Given the description of an element on the screen output the (x, y) to click on. 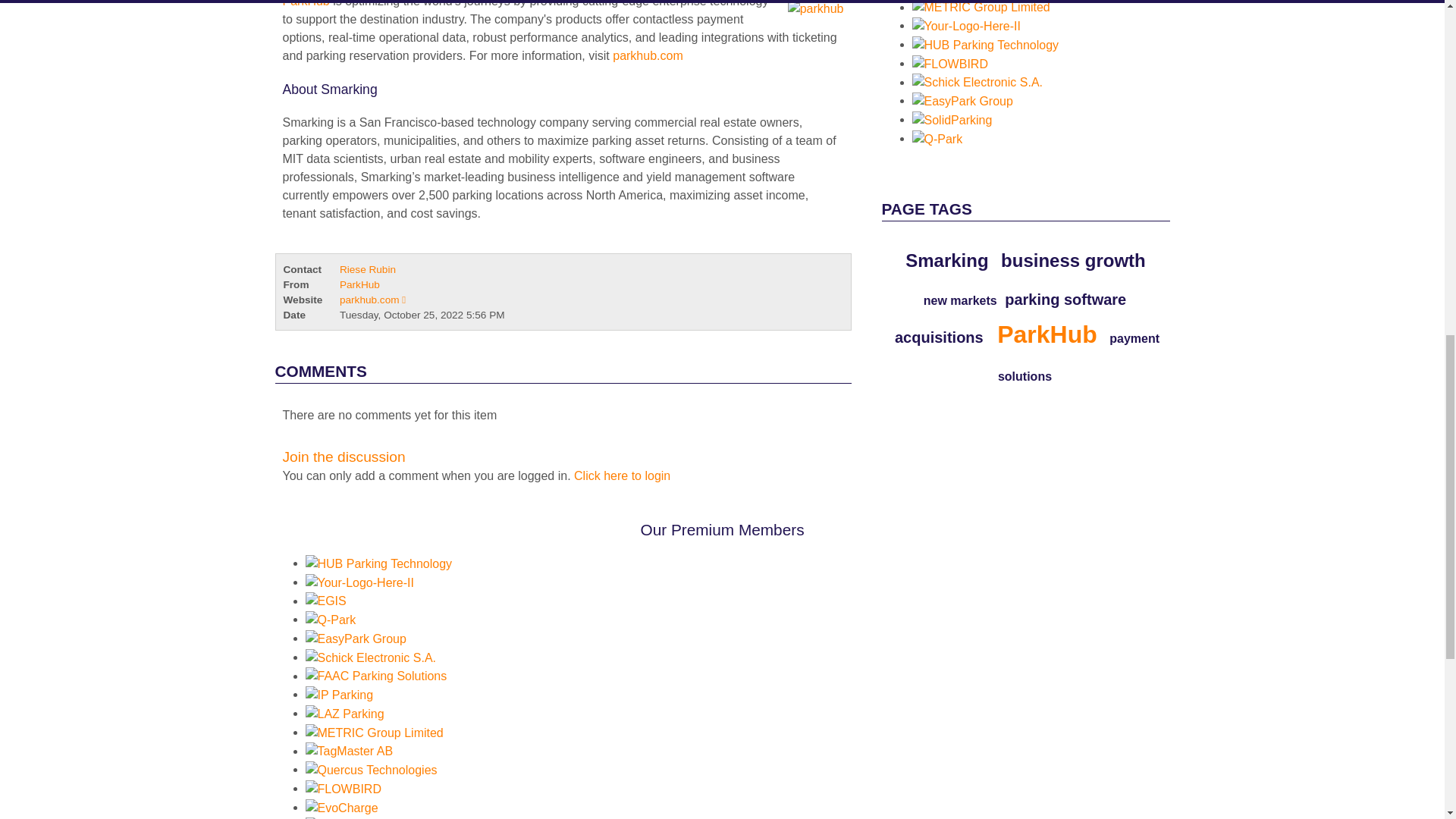
ParkHub (305, 3)
ParkHub (305, 3)
View profile of ParkHub (359, 284)
parkhub (812, 12)
parkhub (647, 55)
View website of ParkHub (372, 299)
parkhub.com (647, 55)
Click here to login (621, 475)
